Given the description of an element on the screen output the (x, y) to click on. 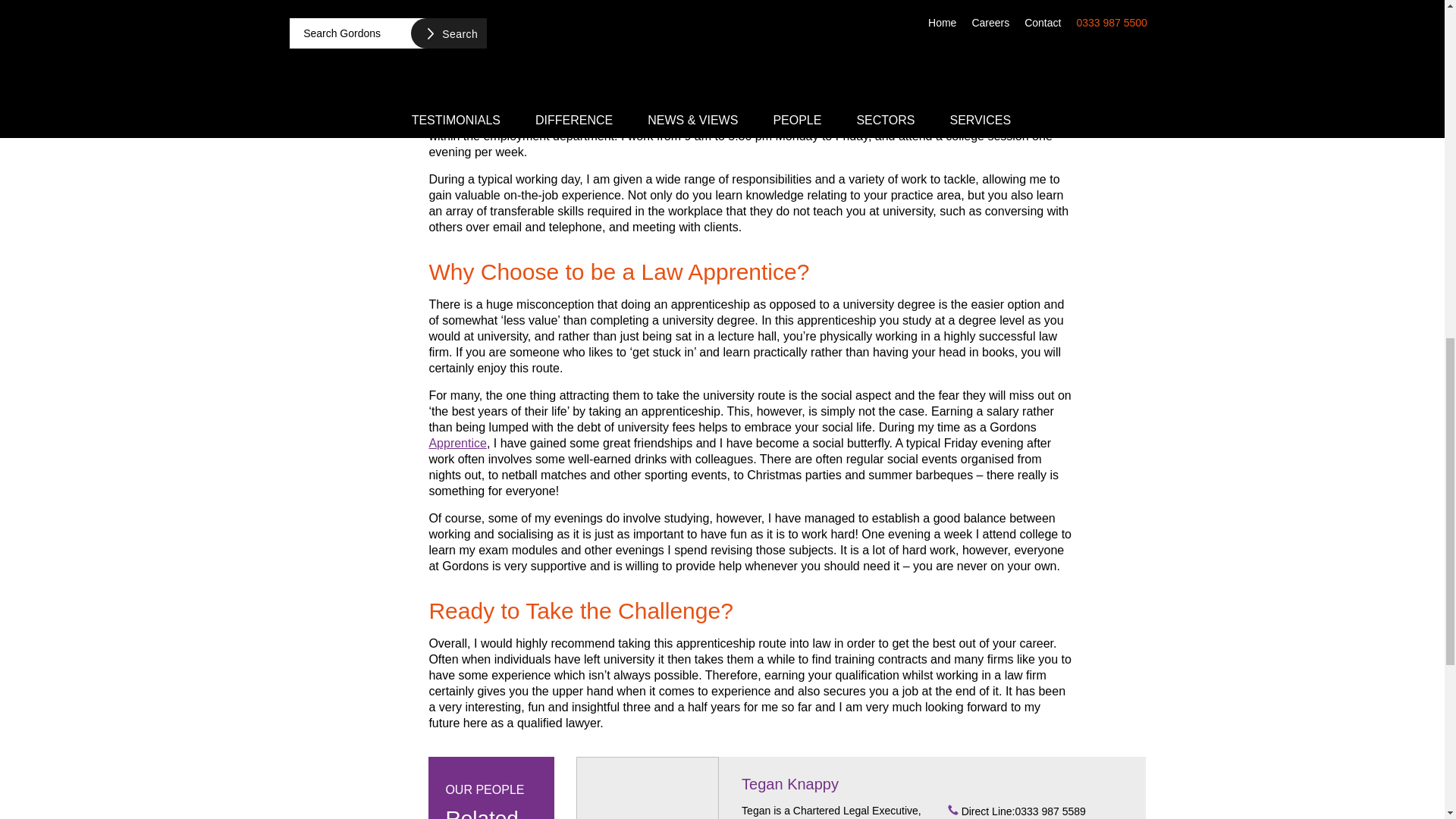
Call 0333 987 5589 (1039, 811)
Tegan Knappy (789, 783)
Our people (489, 796)
Tegan Knappy (647, 787)
